Given the description of an element on the screen output the (x, y) to click on. 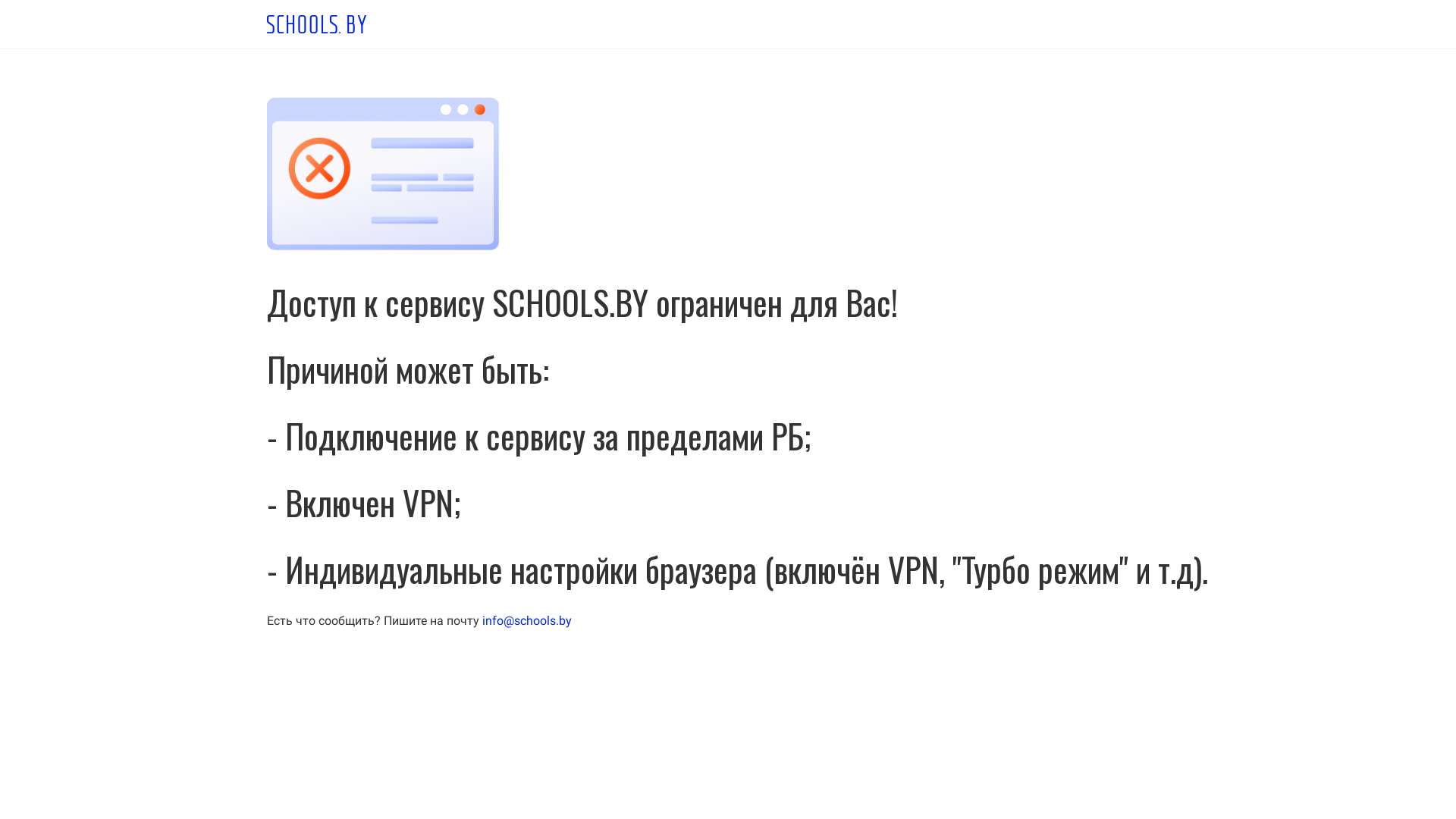
info@schools.by Element type: text (526, 620)
